Given the description of an element on the screen output the (x, y) to click on. 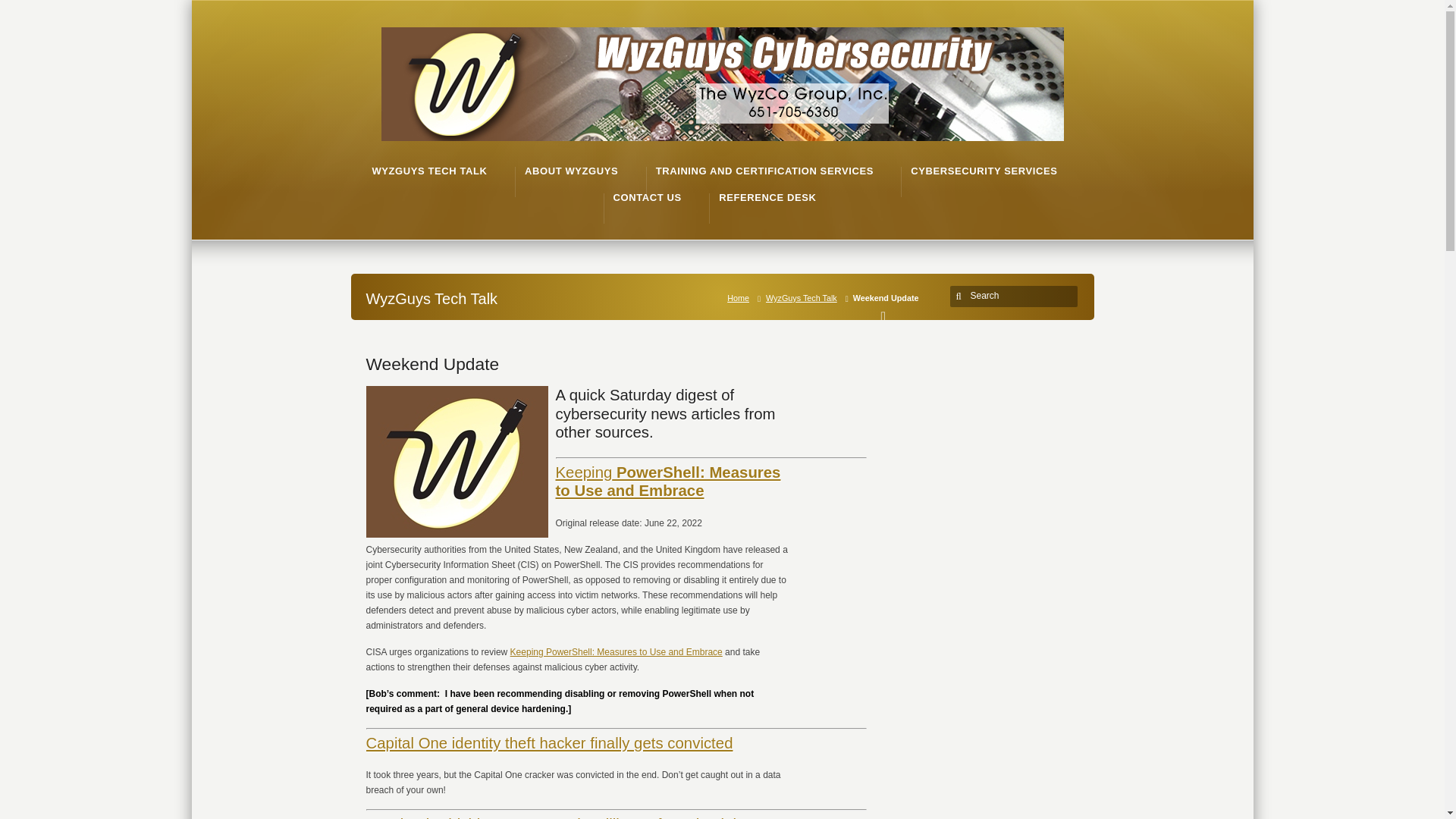
Search (1016, 295)
CYBERSECURITY SERVICES (984, 171)
WYZGUYS TECH TALK (428, 171)
Keeping PowerShell: Measures to Use and Embrace (616, 652)
REFERENCE DESK (767, 197)
CONTACT US (646, 197)
Weekend Update (432, 363)
Keeping (582, 472)
Weekend Update (432, 363)
TRAINING AND CERTIFICATION SERVICES (764, 171)
WyzGuys Tech Talk (804, 297)
ABOUT WYZGUYS (570, 171)
Capital One identity theft hacker finally gets convicted (548, 742)
Home (741, 297)
